Given the description of an element on the screen output the (x, y) to click on. 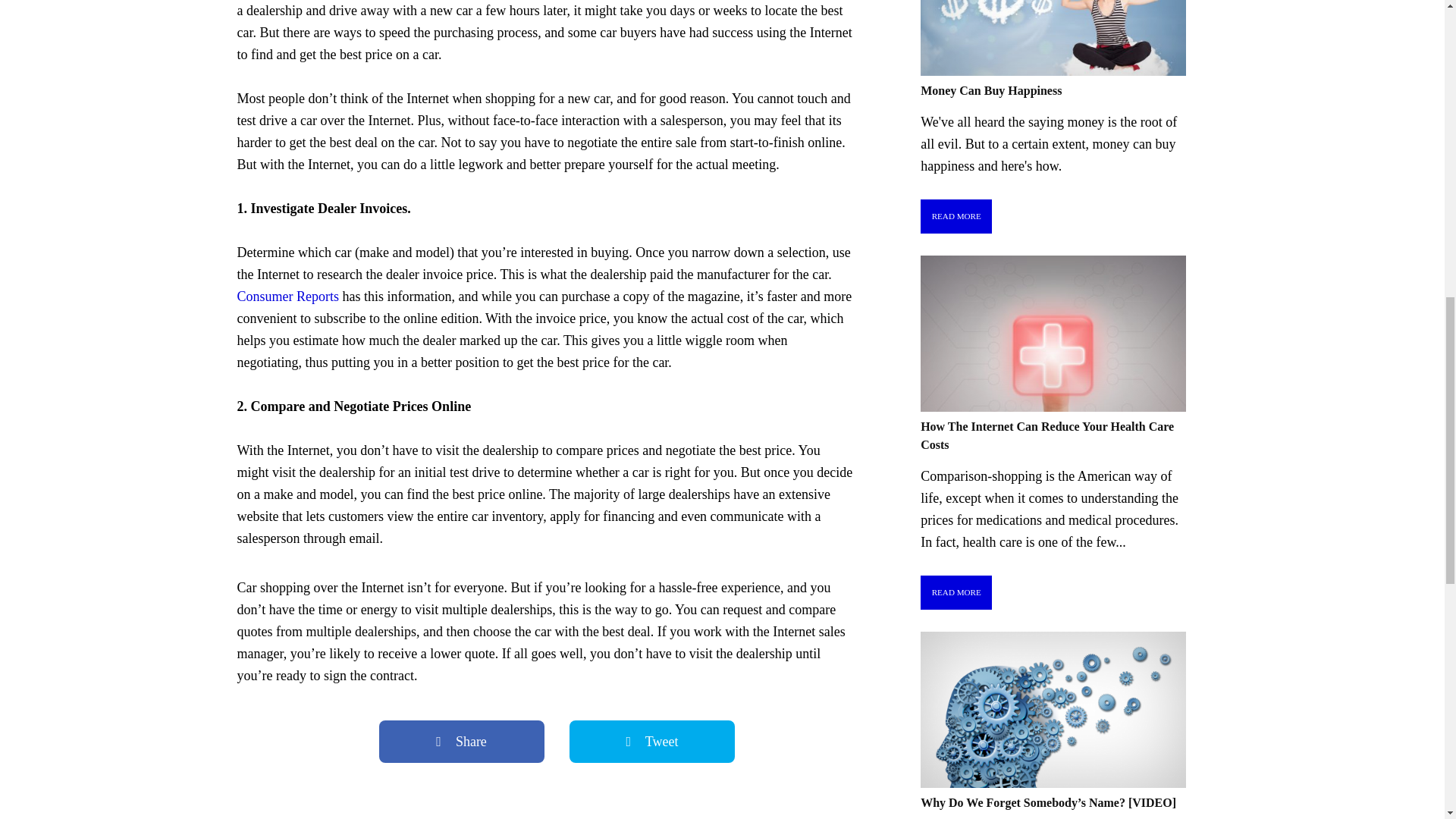
READ MORE (955, 216)
Share (461, 741)
Consumer Reports (287, 296)
Tweet (652, 741)
How The Internet Can Reduce Your Health Care Costs (1046, 435)
Money Can Buy Happiness (990, 90)
READ MORE (955, 592)
